Given the description of an element on the screen output the (x, y) to click on. 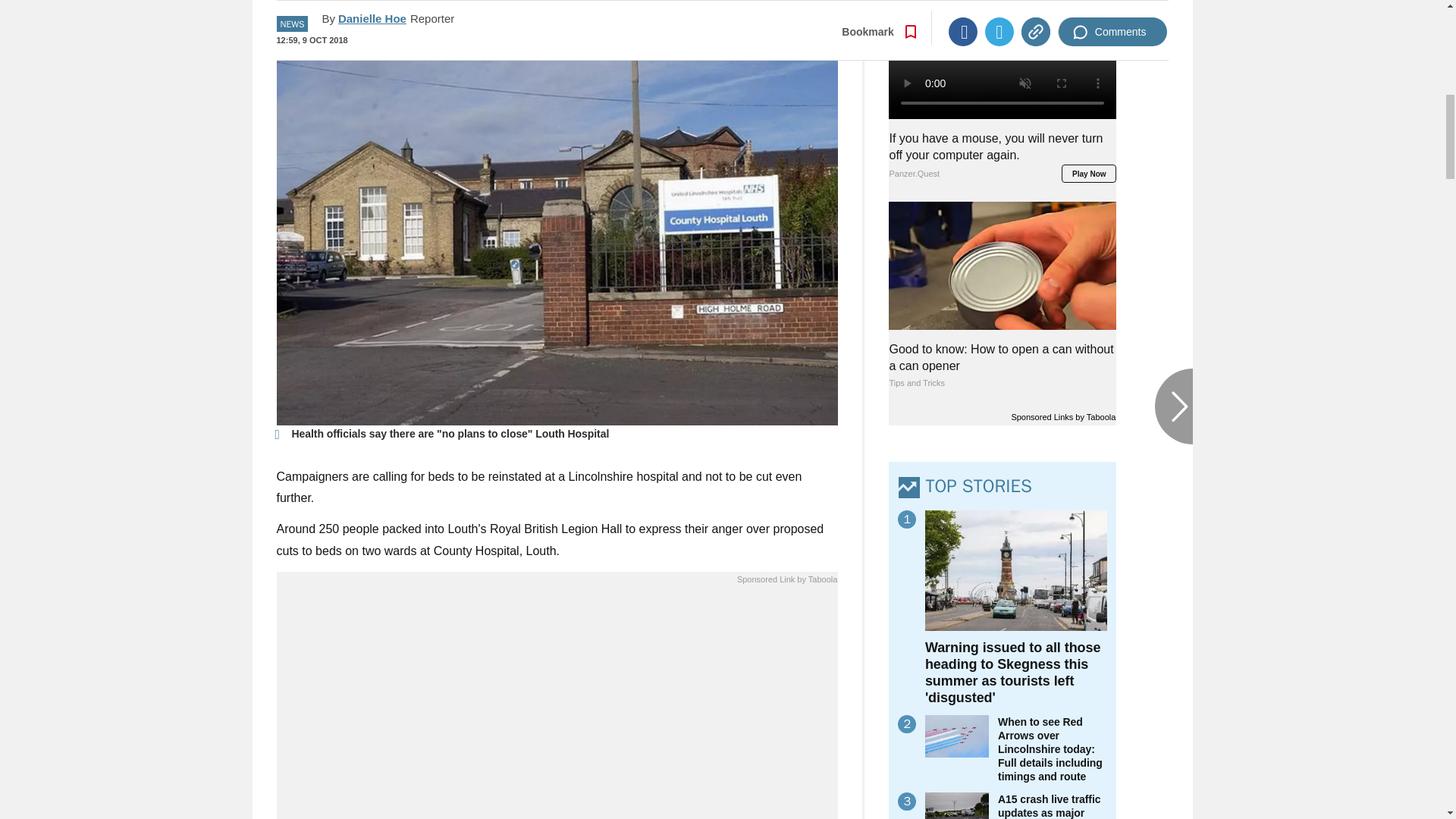
Go (730, 17)
